Given the description of an element on the screen output the (x, y) to click on. 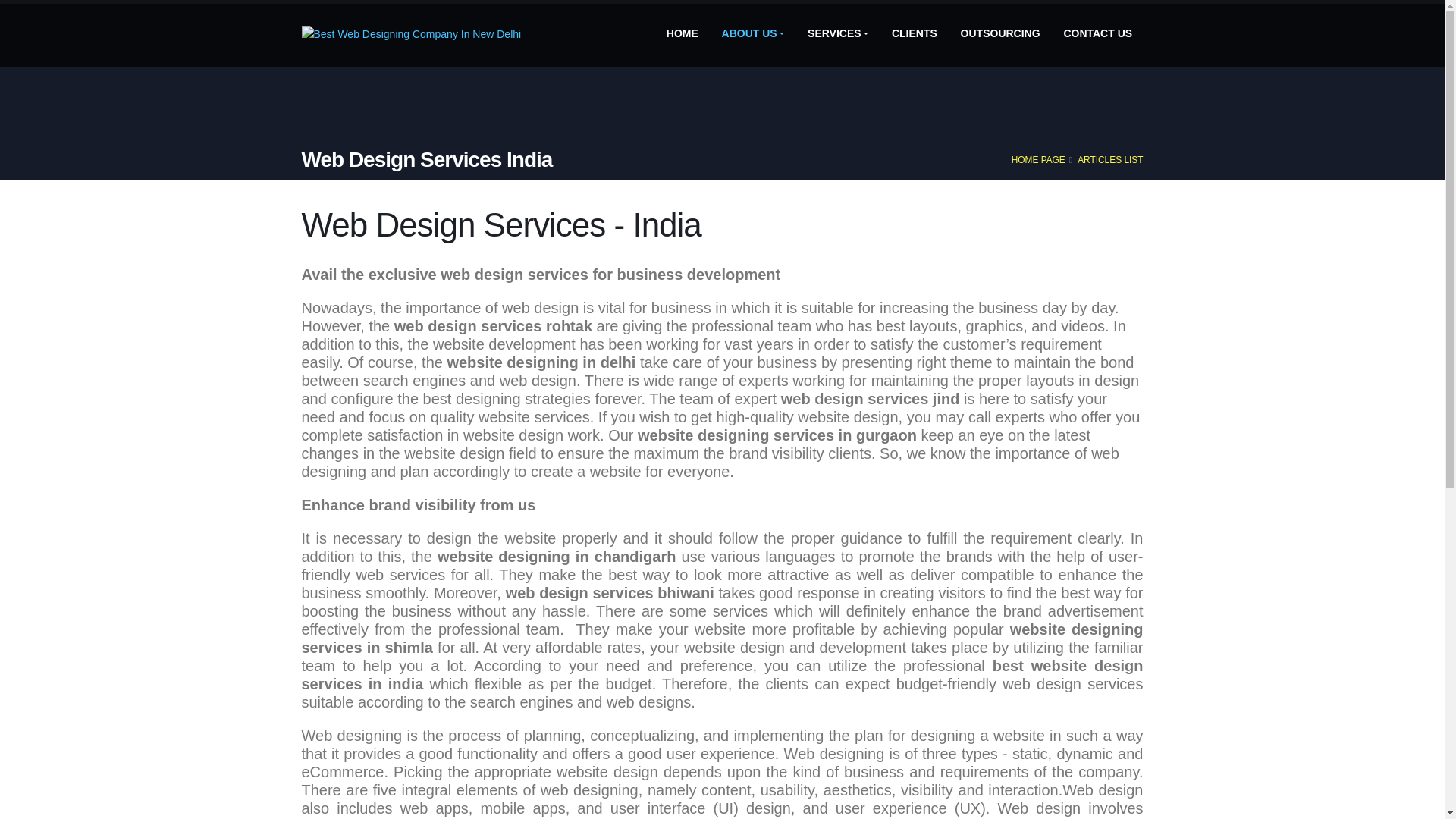
SERVICES (837, 33)
ABOUT US (752, 33)
Best Web Designing Company In New Delhi (411, 33)
CONTACT US (1097, 33)
CLIENTS (914, 33)
ARTICLES LIST (1109, 159)
HOME PAGE (1038, 159)
OUTSOURCING (1000, 33)
